Given the description of an element on the screen output the (x, y) to click on. 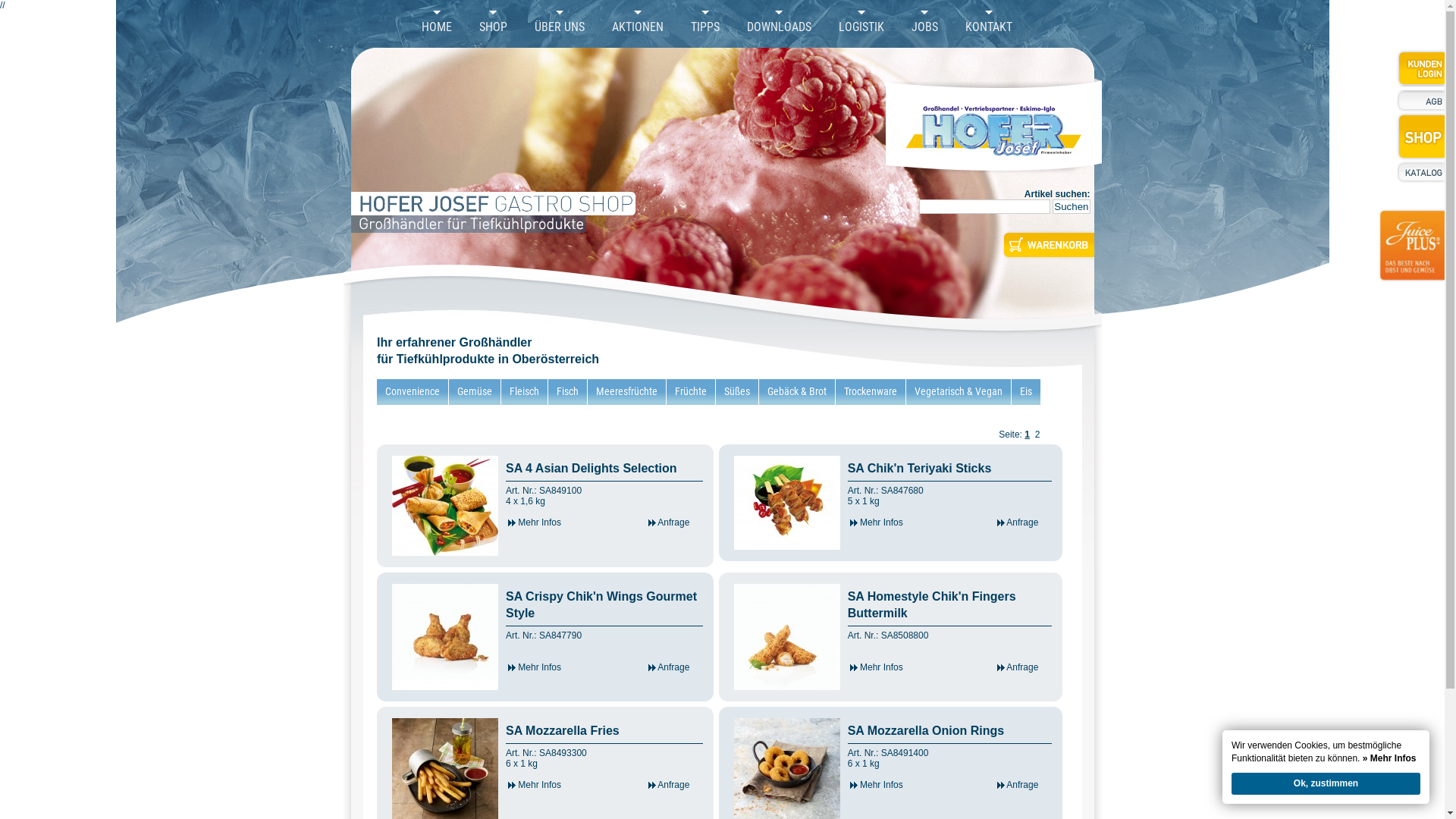
Anfrage Element type: text (1017, 522)
Mehr Infos Element type: text (876, 522)
LOGISTIK Element type: text (861, 27)
Mehr Infos Element type: text (534, 666)
HOME Element type: text (436, 27)
Mehr Infos Element type: text (534, 522)
SHOP Element type: text (493, 27)
2 Element type: text (1037, 434)
Mehr Infos Element type: text (876, 666)
Kundenlogin Element type: text (1420, 67)
Ok, zustimmen Element type: text (1325, 783)
Mehr Infos Element type: text (876, 784)
DOWNLOADS Element type: text (778, 27)
JOBS Element type: text (924, 27)
AGB Element type: text (1420, 101)
TIPPS Element type: text (704, 27)
Juiceplus Element type: text (1410, 254)
KONTAKT Element type: text (987, 27)
Anfrage Element type: text (669, 784)
Suchen Element type: text (1070, 206)
Warenkorb Element type: text (1047, 244)
Anfrage Element type: text (669, 666)
Anfrage Element type: text (1017, 784)
Mehr Infos Element type: text (534, 784)
AKTIONEN Element type: text (636, 27)
Shop Element type: text (1420, 136)
Anfrage Element type: text (1017, 666)
Anfrage Element type: text (669, 522)
Katalog Element type: text (1420, 171)
